Given the description of an element on the screen output the (x, y) to click on. 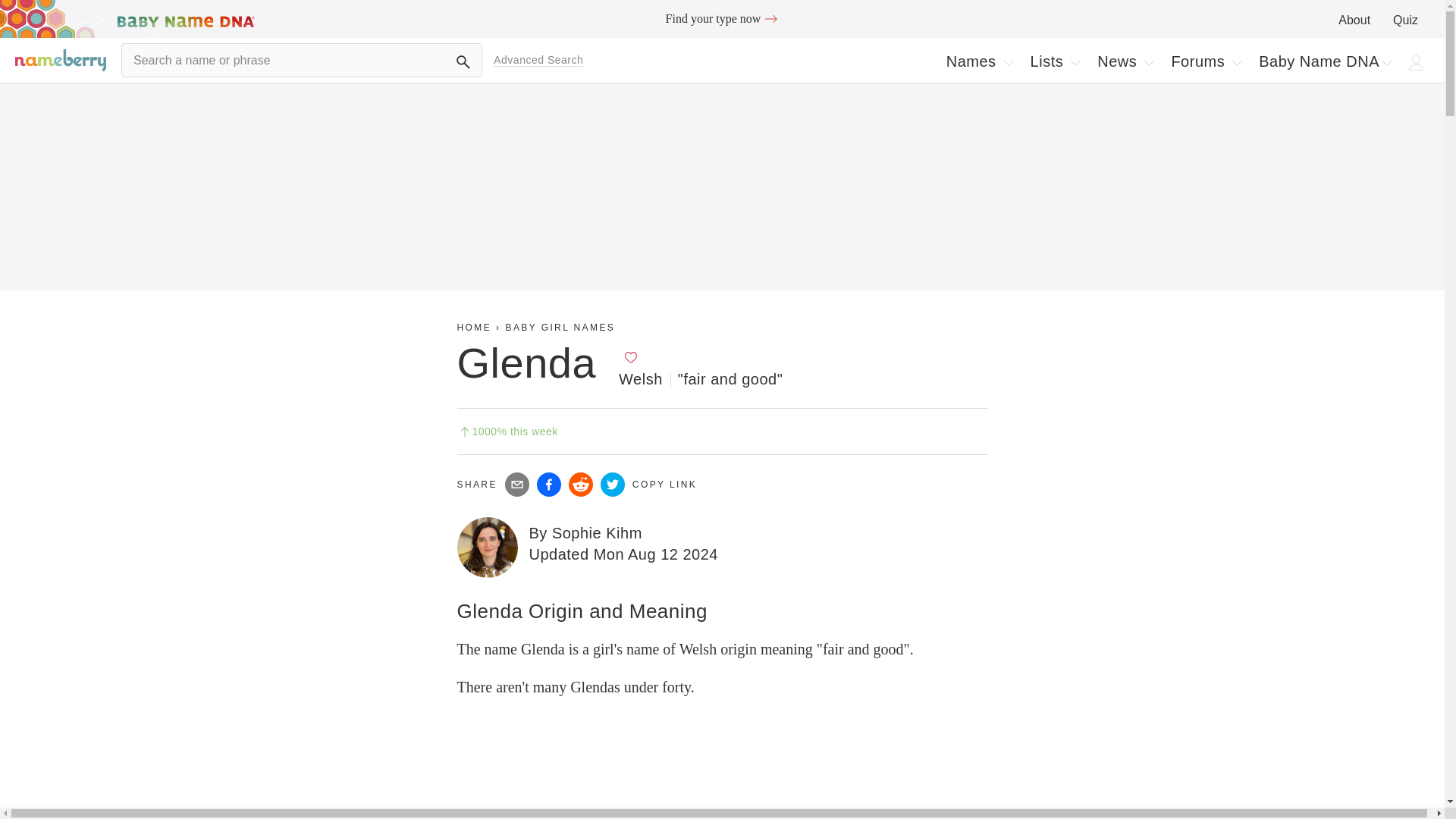
Chevron - Down (1148, 62)
Chevron - Down (1236, 62)
User (1416, 62)
About (1354, 19)
Chevron - Down (1386, 62)
Quiz (1405, 19)
Arrow Right (770, 18)
Chevron - Down (721, 18)
